Given the description of an element on the screen output the (x, y) to click on. 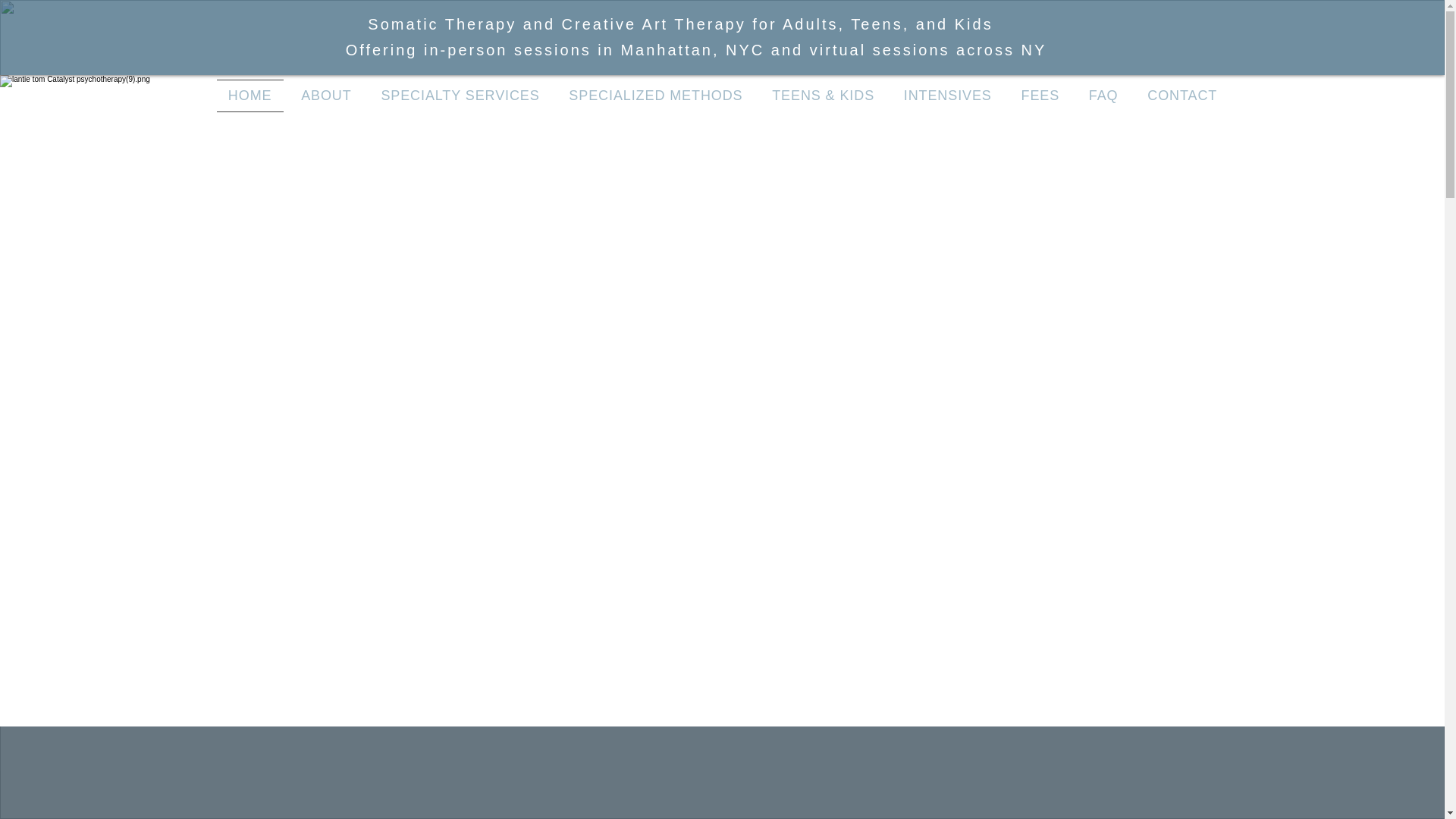
FEES (1039, 95)
FAQ (1103, 95)
INTENSIVES (947, 95)
CONTACT (1181, 95)
ABOUT (325, 95)
HOME (249, 95)
